Given the description of an element on the screen output the (x, y) to click on. 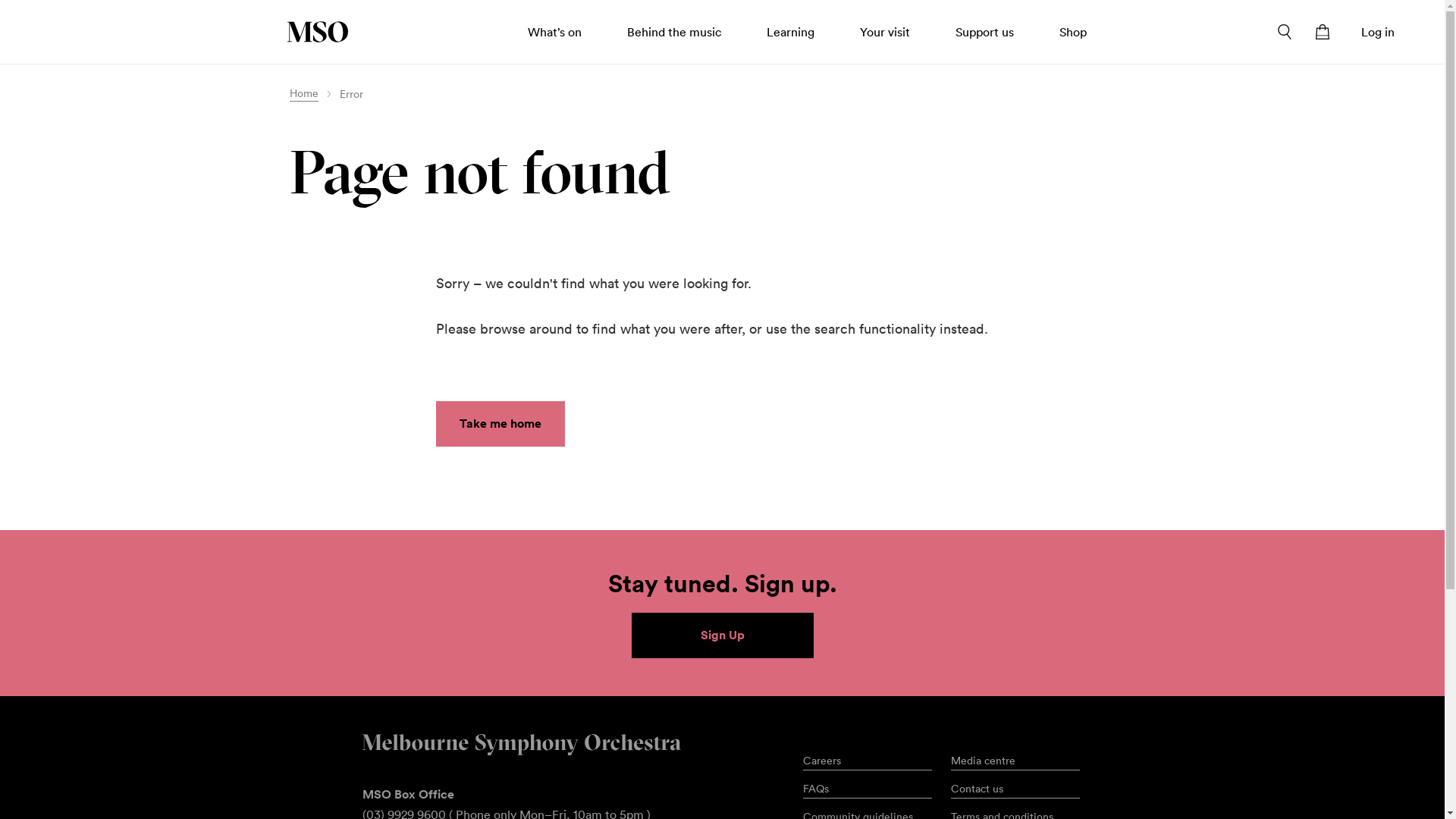
Take me home Element type: text (500, 423)
Sign Up Element type: text (721, 635)
Learning Element type: text (789, 31)
Your visit Element type: text (884, 31)
Melbourne Symphony Orchestra Element type: text (574, 747)
Melbourne Syphony Orchestra Element type: text (317, 31)
Behind the music Element type: text (673, 31)
Log in Element type: text (1377, 31)
Cart Element type: text (1322, 31)
Shop Element type: text (1071, 31)
Search Element type: text (1284, 31)
Media centre Element type: text (1014, 761)
Contact us Element type: text (1014, 789)
Careers Element type: text (867, 761)
Support us Element type: text (984, 31)
FAQs Element type: text (867, 789)
Home Element type: text (303, 94)
